Given the description of an element on the screen output the (x, y) to click on. 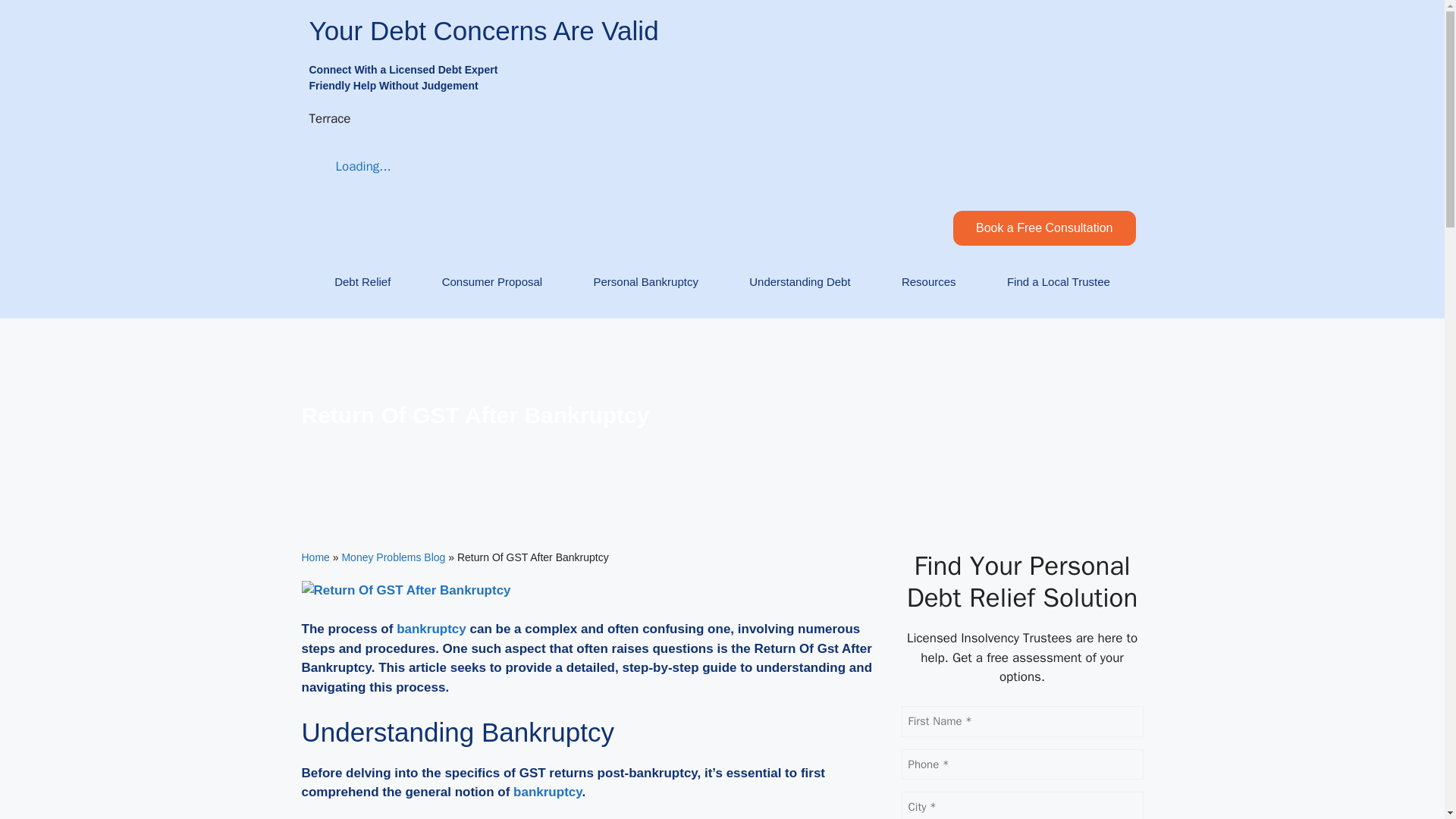
Consumer Proposal (491, 282)
Resources (928, 282)
Loading... (349, 166)
Find a Local Trustee (1058, 282)
Understanding Debt (799, 282)
Debt Relief (362, 282)
Personal Bankruptcy (645, 282)
Book a Free Consultation (1044, 227)
